Given the description of an element on the screen output the (x, y) to click on. 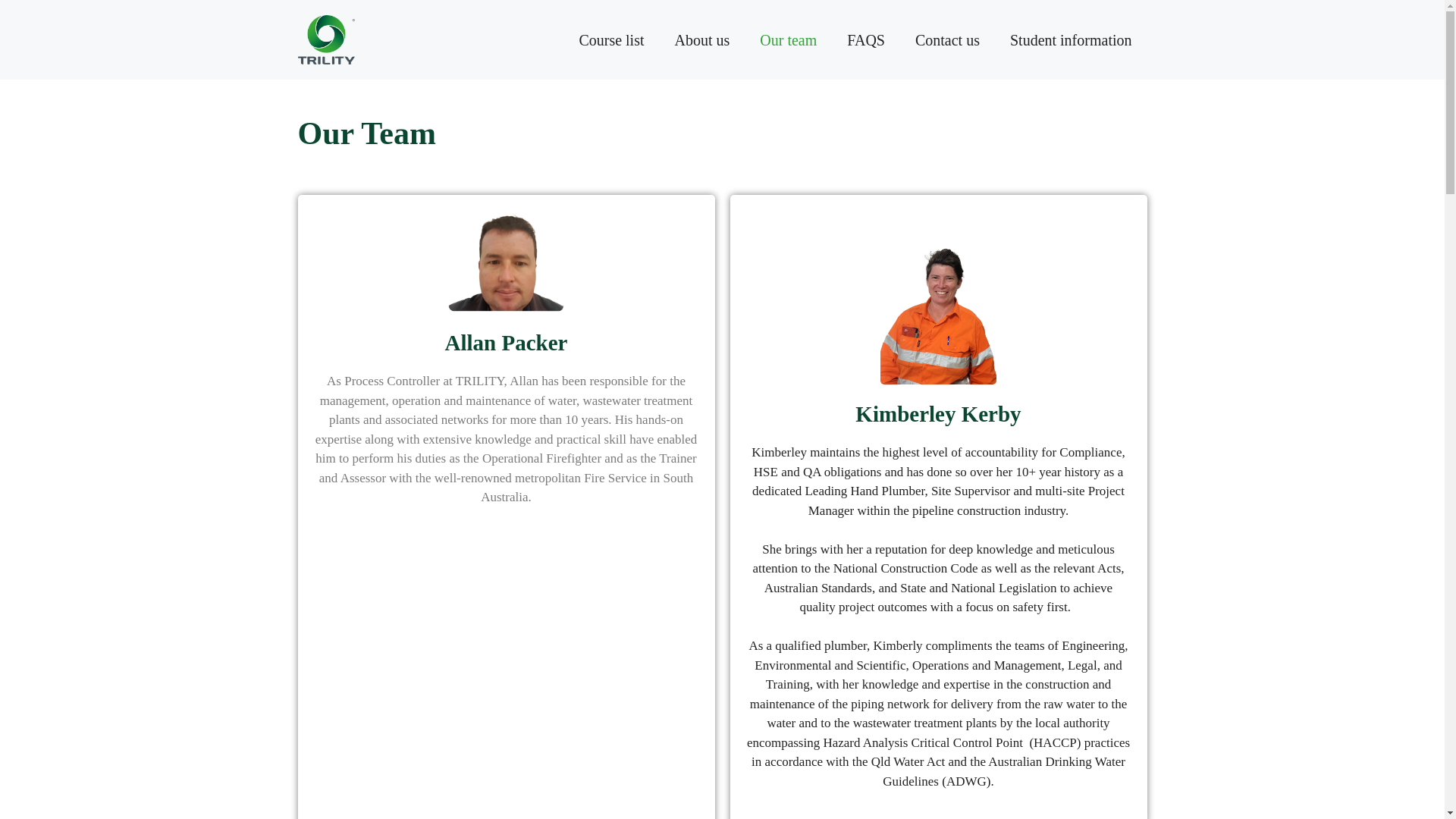
Our team (787, 40)
FAQS (865, 40)
About us (702, 40)
Course list (611, 40)
Contact us (946, 40)
Student information (1070, 40)
